Given the description of an element on the screen output the (x, y) to click on. 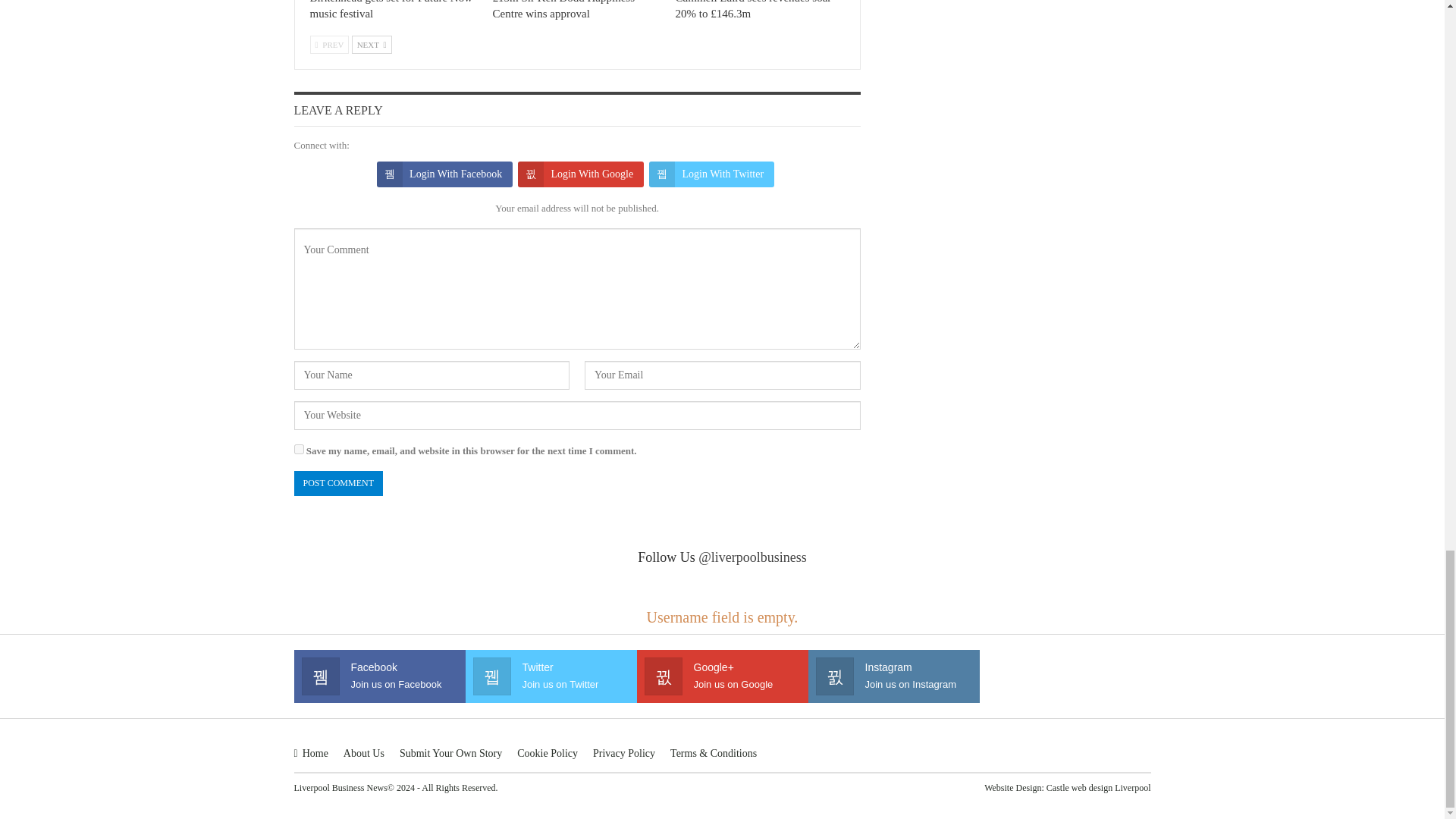
Next (371, 45)
Post Comment (338, 483)
yes (299, 449)
Previous (328, 45)
